Given the description of an element on the screen output the (x, y) to click on. 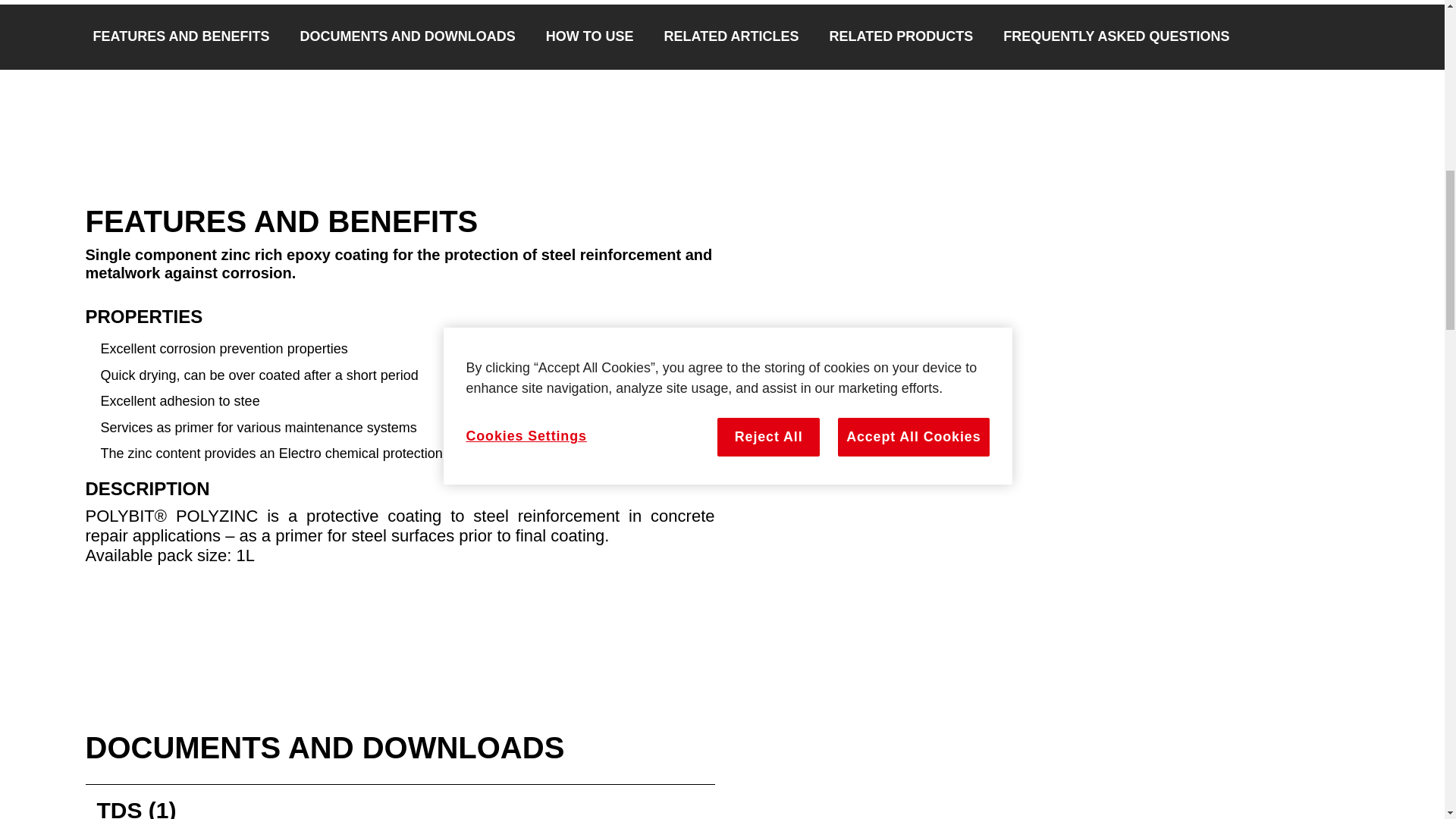
DOCUMENTS AND DOWNLOADS (407, 37)
HOW TO USE (590, 37)
FEATURES AND BENEFITS (180, 37)
RELATED ARTICLES (731, 37)
RELATED PRODUCTS (901, 37)
FREQUENTLY ASKED QUESTIONS (1115, 37)
